Given the description of an element on the screen output the (x, y) to click on. 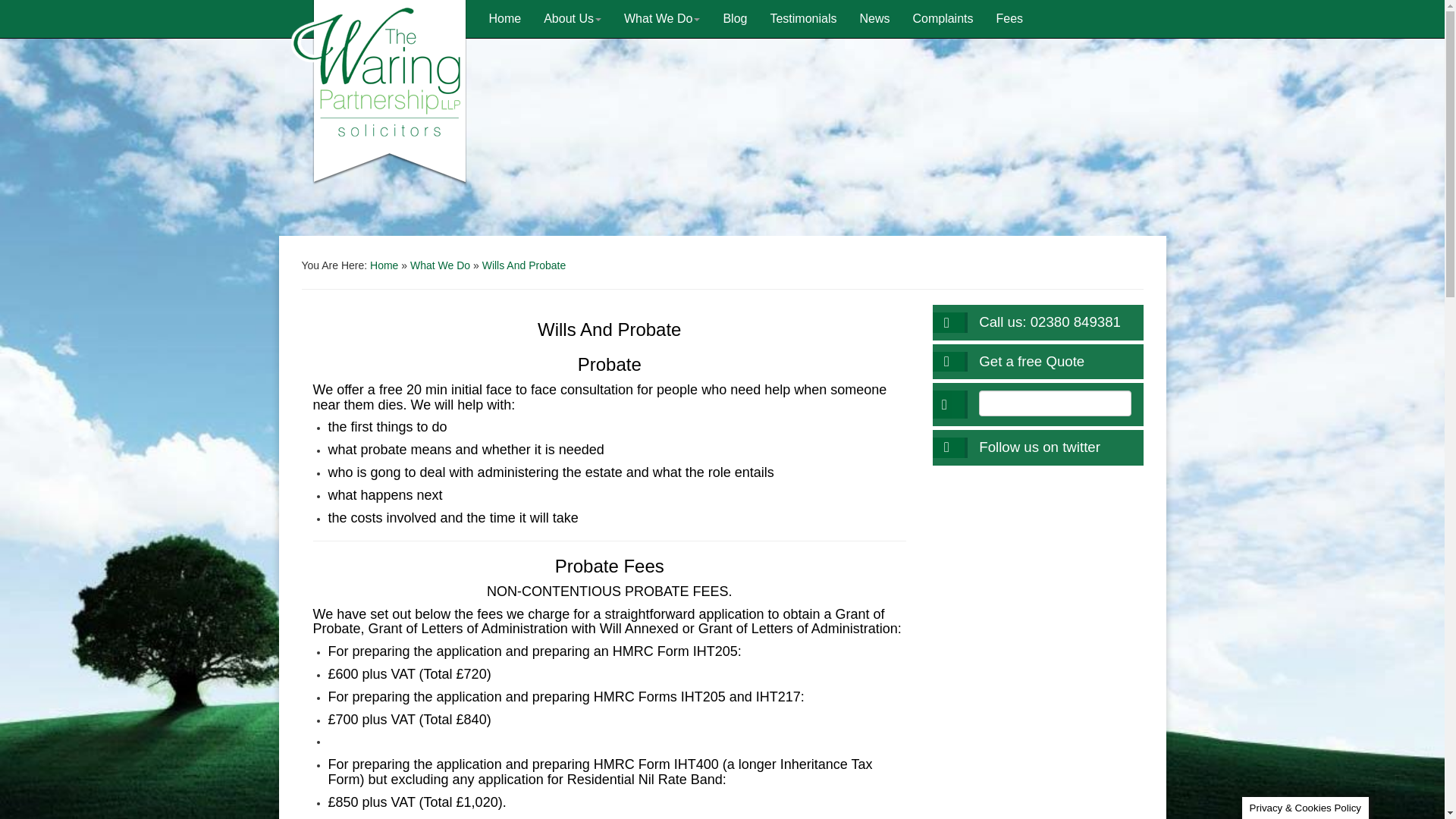
Testimonials (802, 18)
Fees (1010, 18)
Blog (734, 18)
News (874, 18)
Home (383, 265)
Complaints (942, 18)
About Us (572, 18)
Wills And Probate (523, 265)
Home (504, 18)
What We Do (661, 18)
What We Do (440, 265)
